Given the description of an element on the screen output the (x, y) to click on. 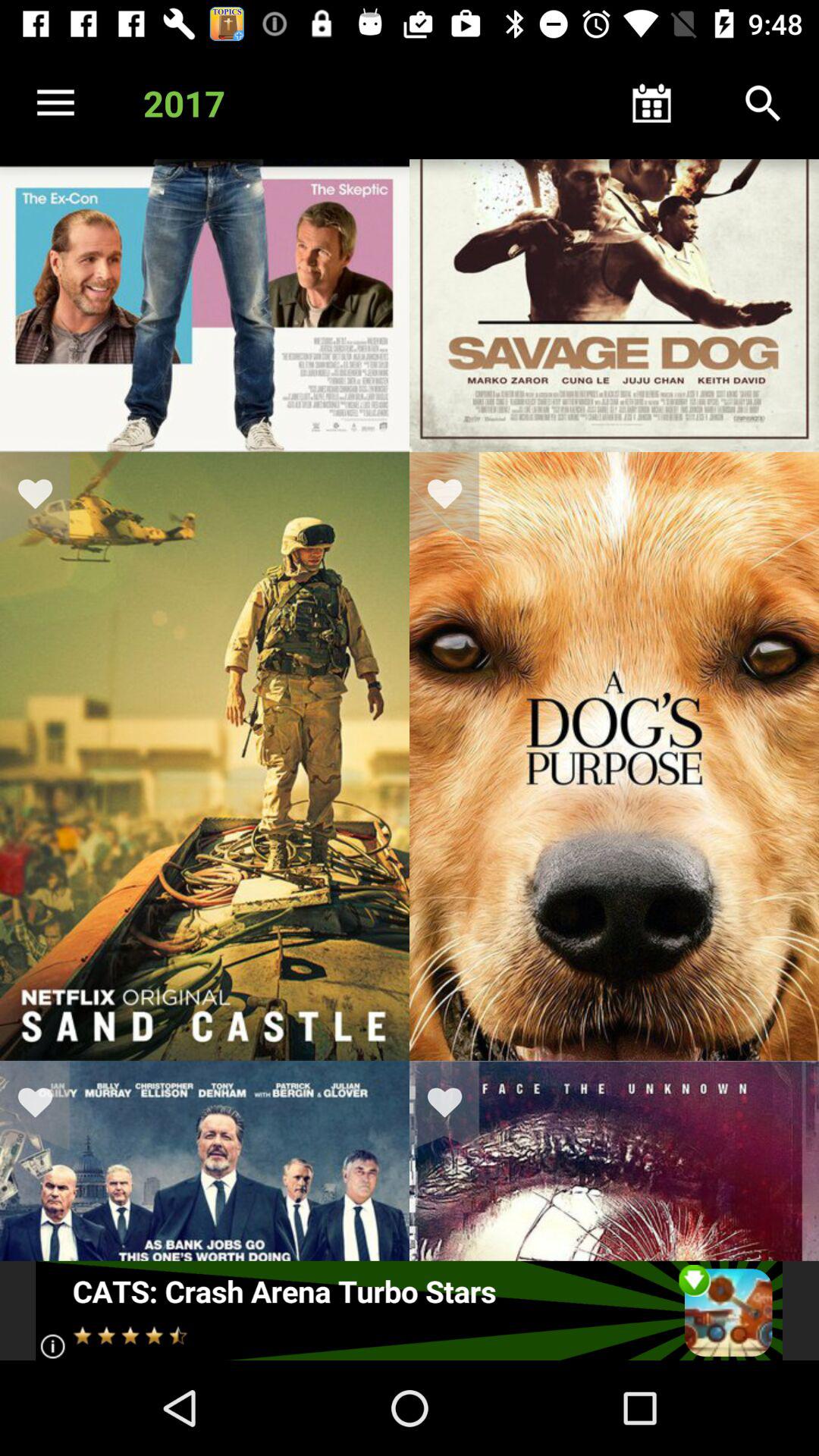
favorite this option (44, 497)
